Given the description of an element on the screen output the (x, y) to click on. 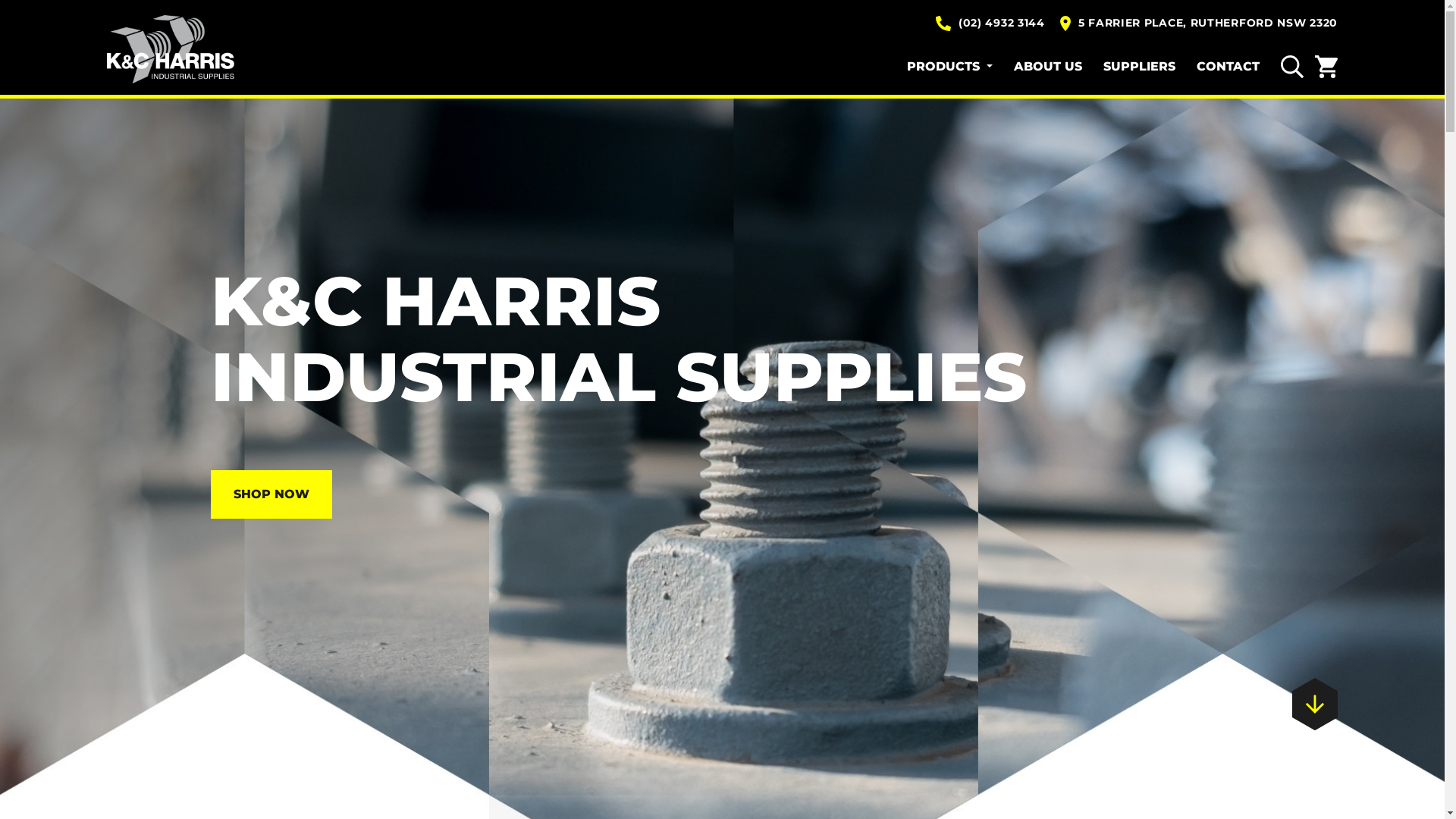
SUPPLIERS Element type: text (1149, 66)
(02) 4932 3144 Element type: text (989, 23)
5 FARRIER PLACE, RUTHERFORD NSW 2320 Element type: text (1198, 23)
CONTACT Element type: text (1238, 66)
ABOUT US Element type: text (1058, 66)
PRODUCTS Element type: text (959, 66)
SHOP NOW Element type: text (271, 494)
